Given the description of an element on the screen output the (x, y) to click on. 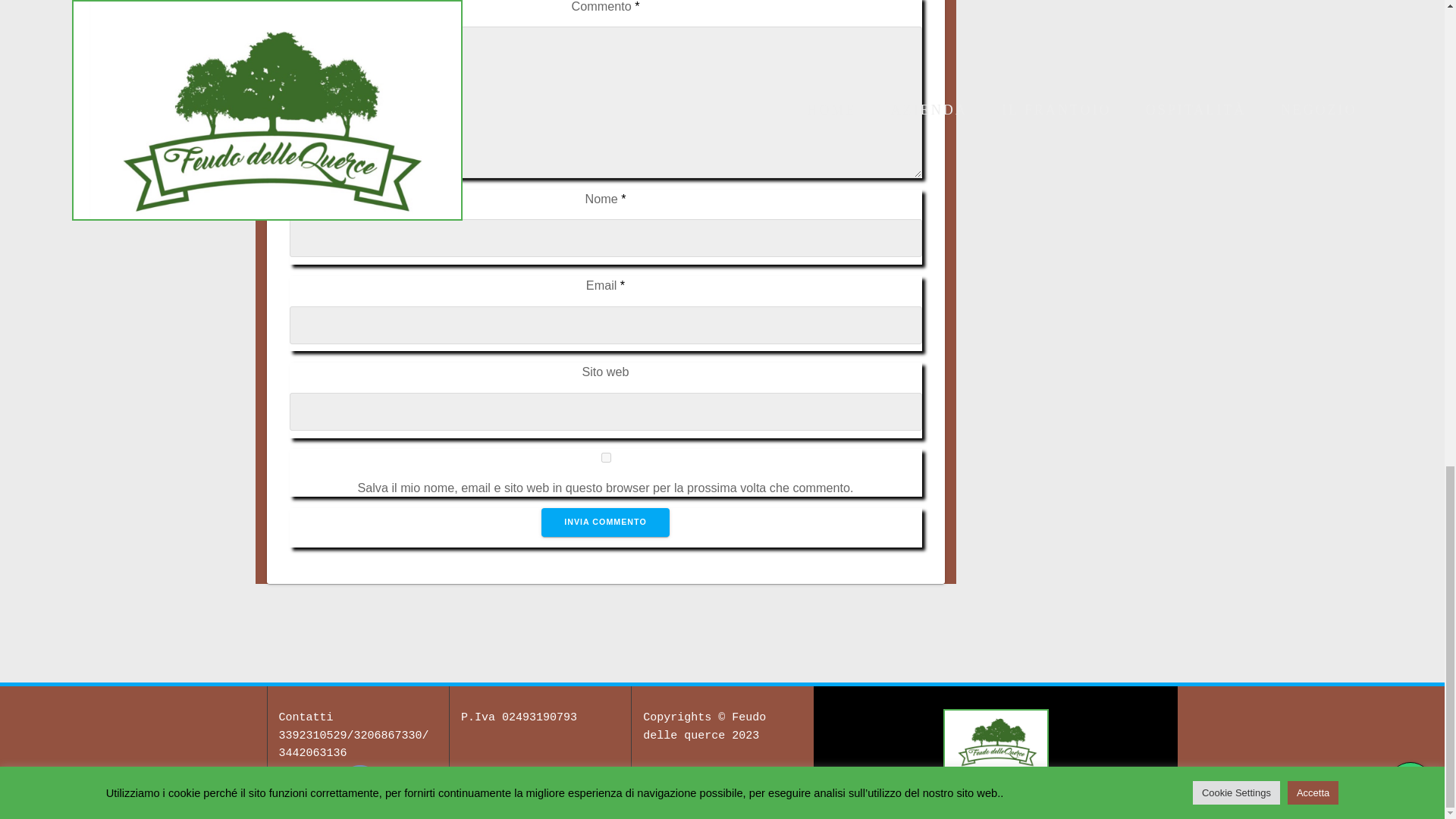
Invia commento (604, 522)
yes (604, 457)
Invia commento (604, 522)
Facebook (359, 783)
